Given the description of an element on the screen output the (x, y) to click on. 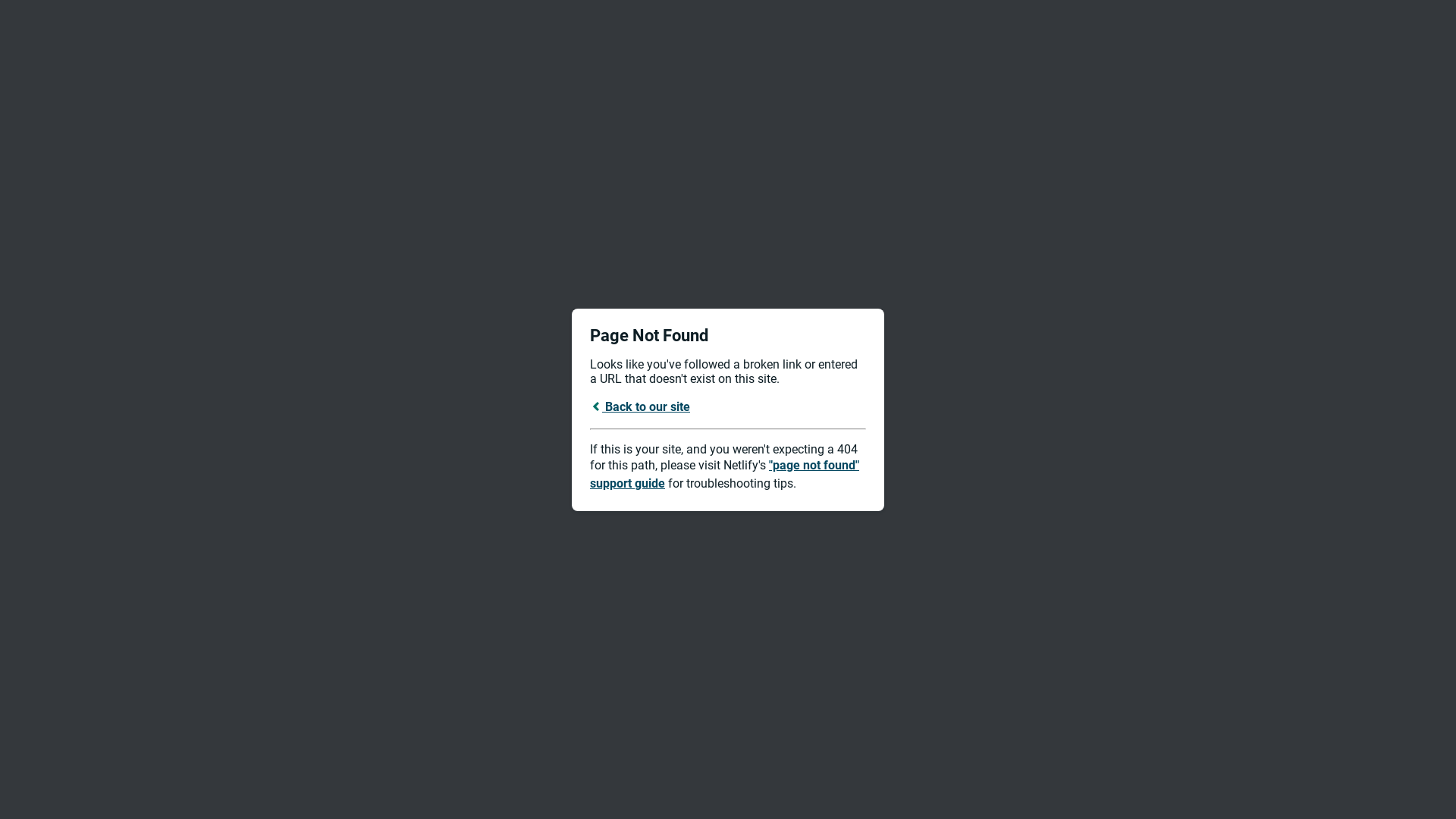
Back to our site Element type: text (639, 405)
"page not found" support guide Element type: text (724, 474)
